Given the description of an element on the screen output the (x, y) to click on. 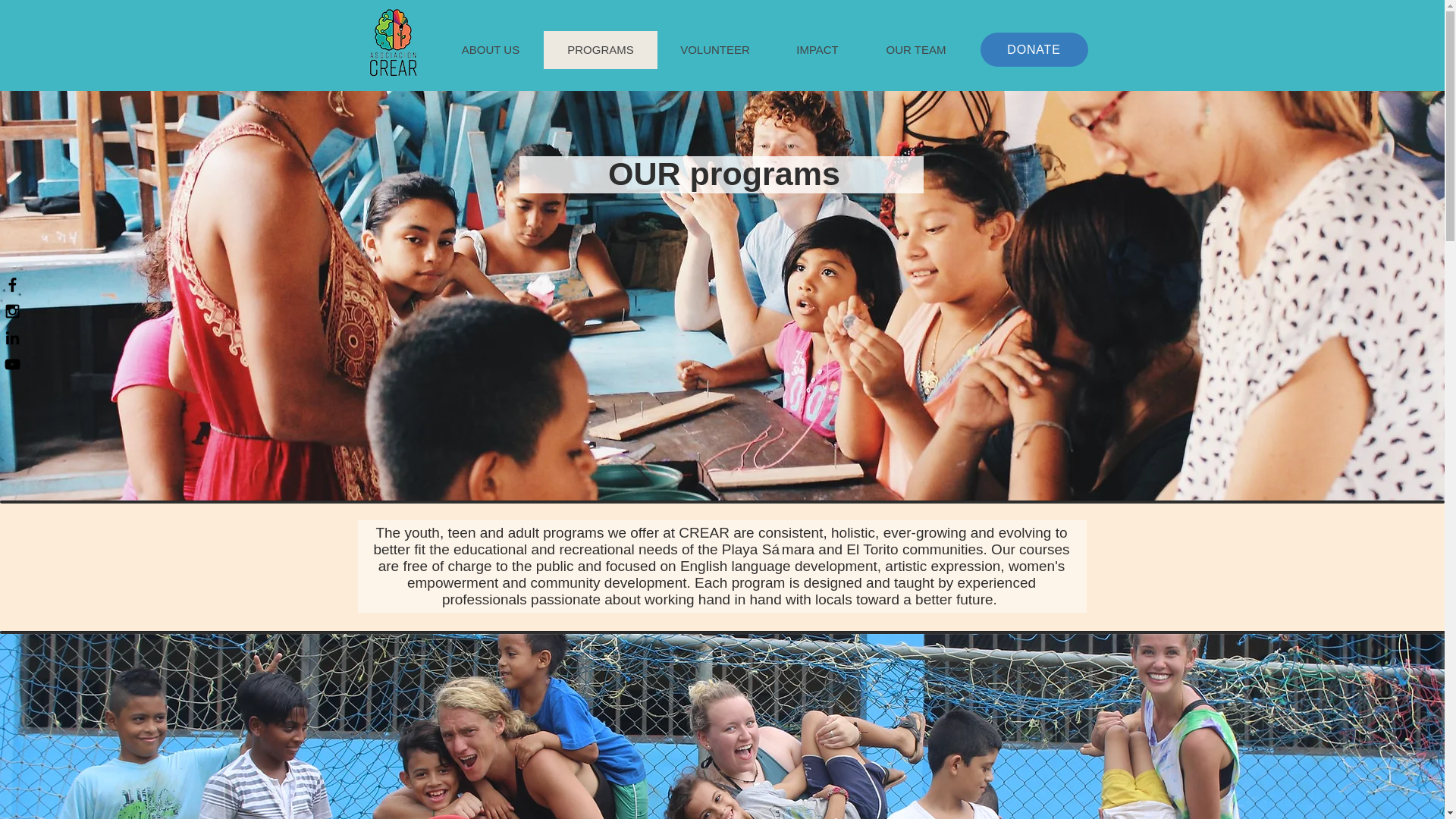
PROGRAMS (599, 49)
DONATE (1033, 49)
OUR TEAM (915, 49)
IMPACT (816, 49)
ABOUT US (490, 49)
VOLUNTEER (713, 49)
